Given the description of an element on the screen output the (x, y) to click on. 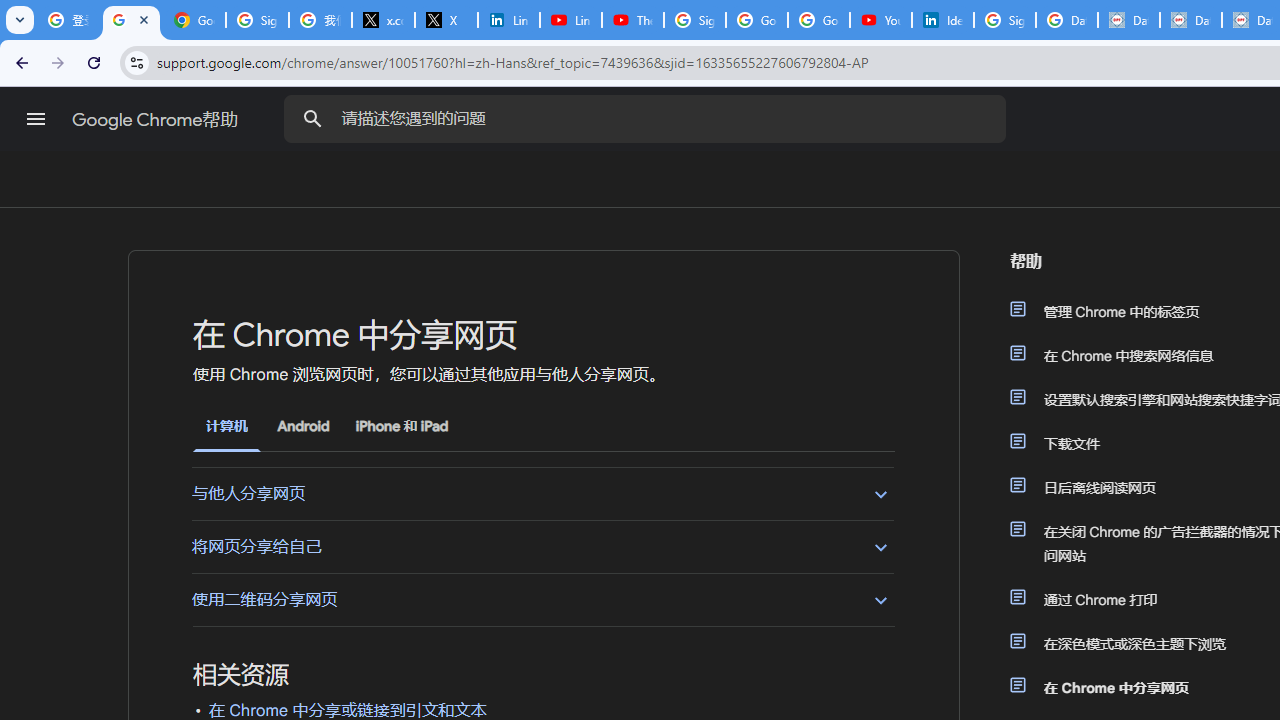
LinkedIn Privacy Policy (508, 20)
